Given the description of an element on the screen output the (x, y) to click on. 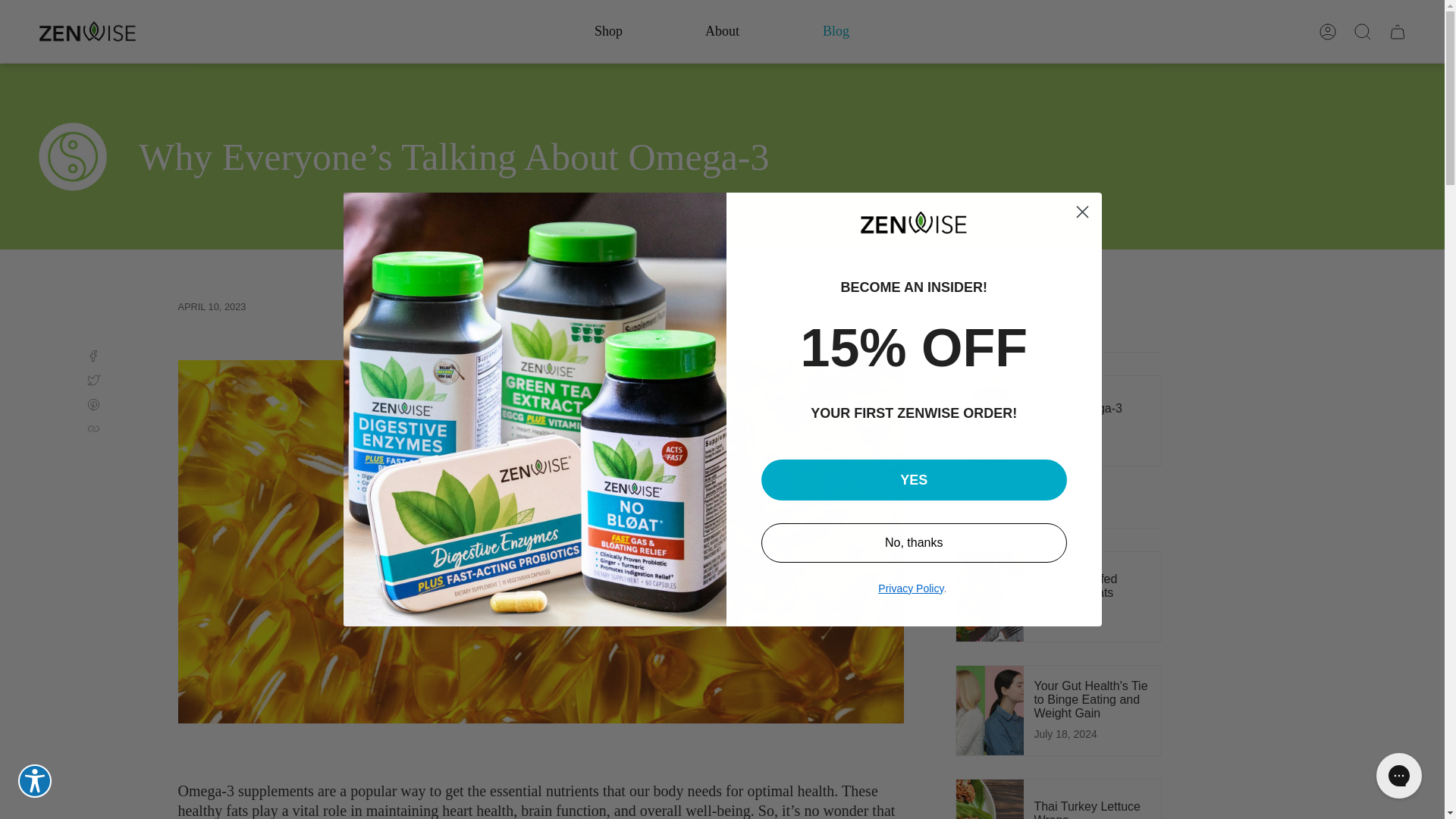
Gorgias live chat messenger (1398, 775)
Shop (608, 31)
About (721, 31)
Close dialog 1 (1082, 212)
